Given the description of an element on the screen output the (x, y) to click on. 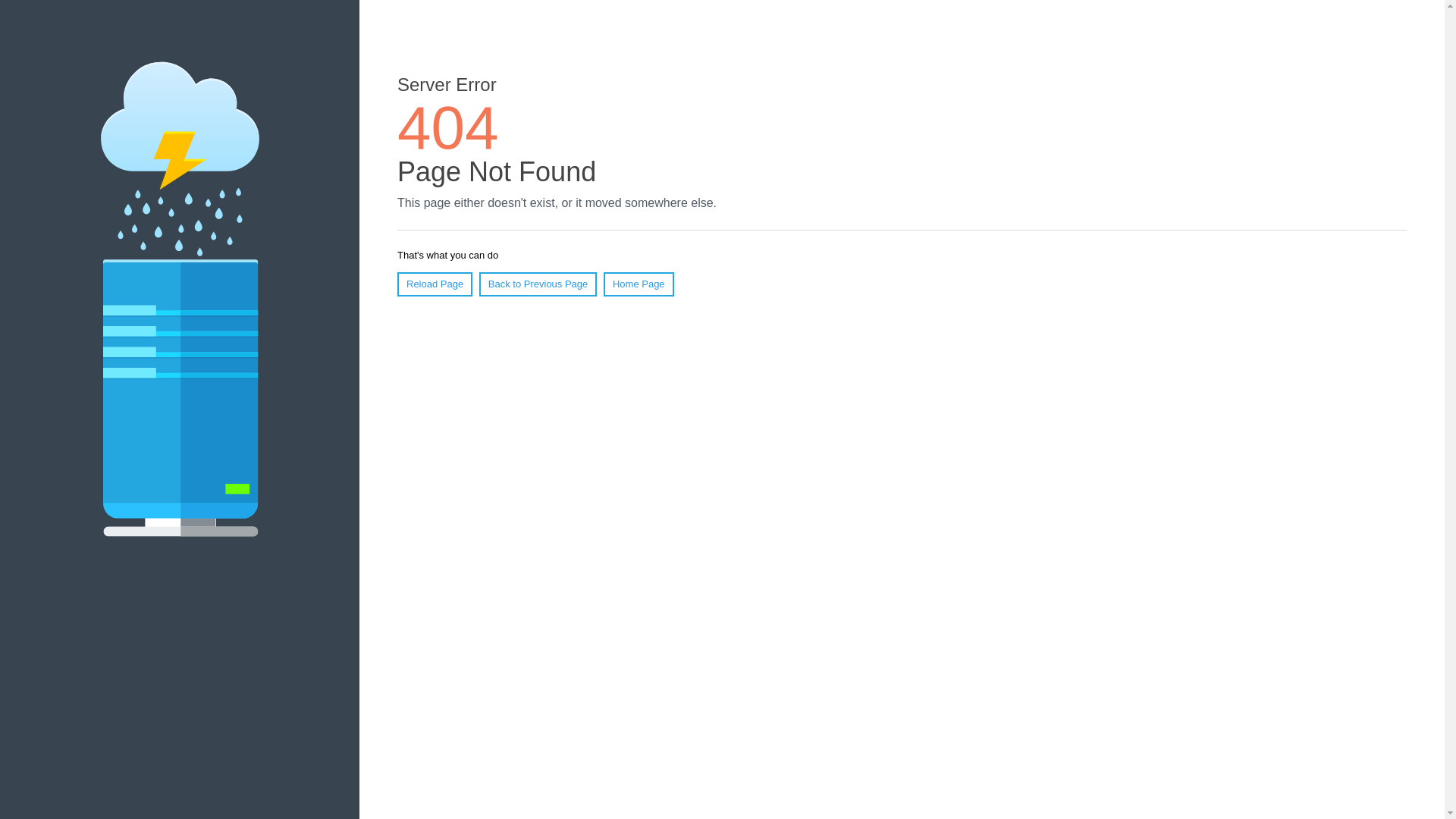
Reload Page Element type: text (434, 284)
Home Page Element type: text (638, 284)
Back to Previous Page Element type: text (538, 284)
